Given the description of an element on the screen output the (x, y) to click on. 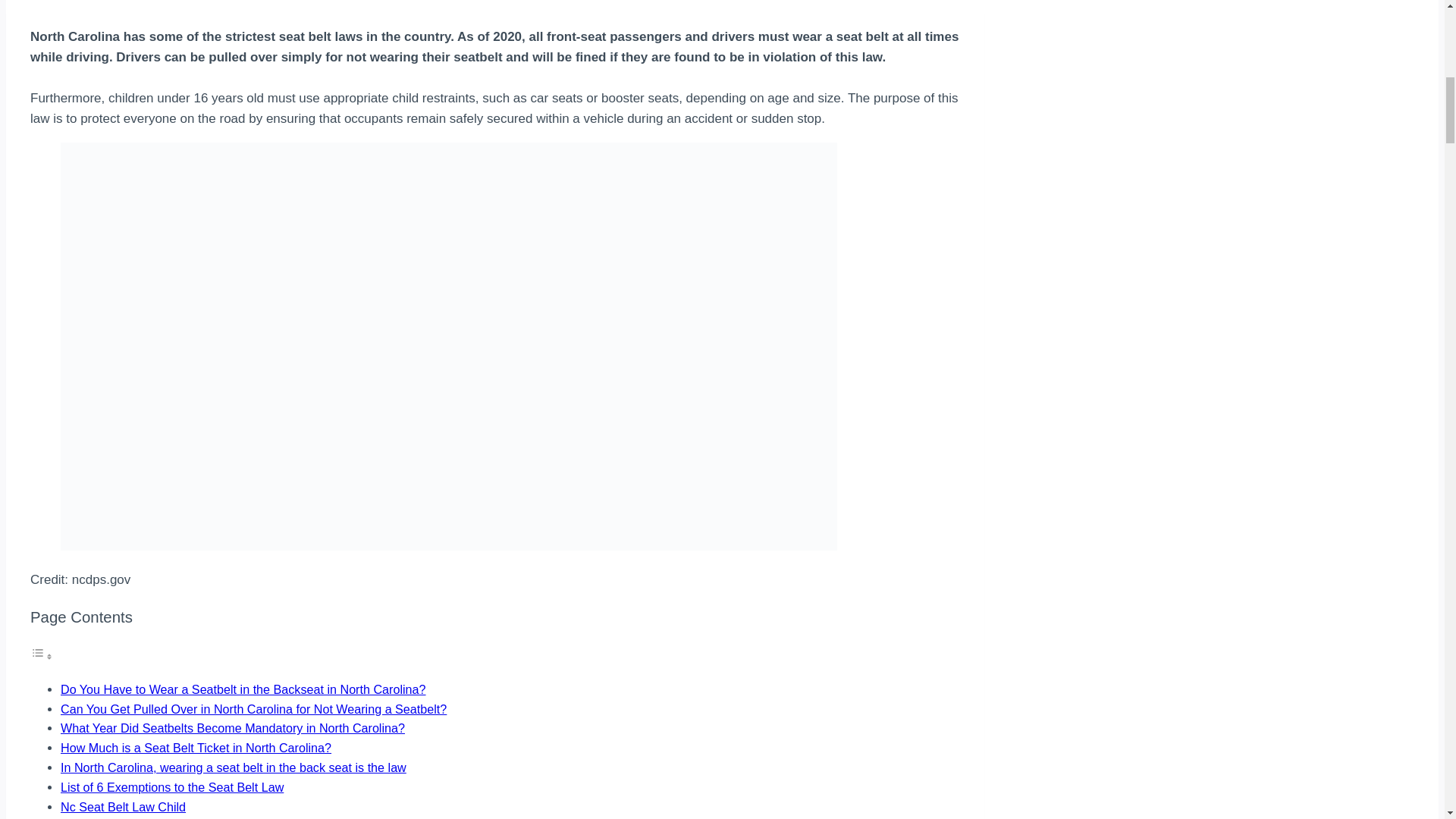
Nc Seat Belt Law Child (123, 807)
How Much is a Seat Belt Ticket in North Carolina? (196, 747)
List of 6 Exemptions to the Seat Belt Law (172, 786)
How Much is a Seat Belt Ticket in North Carolina? (196, 747)
What Year Did Seatbelts Become Mandatory in North Carolina? (232, 727)
List of 6 Exemptions to the Seat Belt Law (172, 786)
Nc Seat Belt Law Child (123, 807)
What Year Did Seatbelts Become Mandatory in North Carolina? (232, 727)
